Given the description of an element on the screen output the (x, y) to click on. 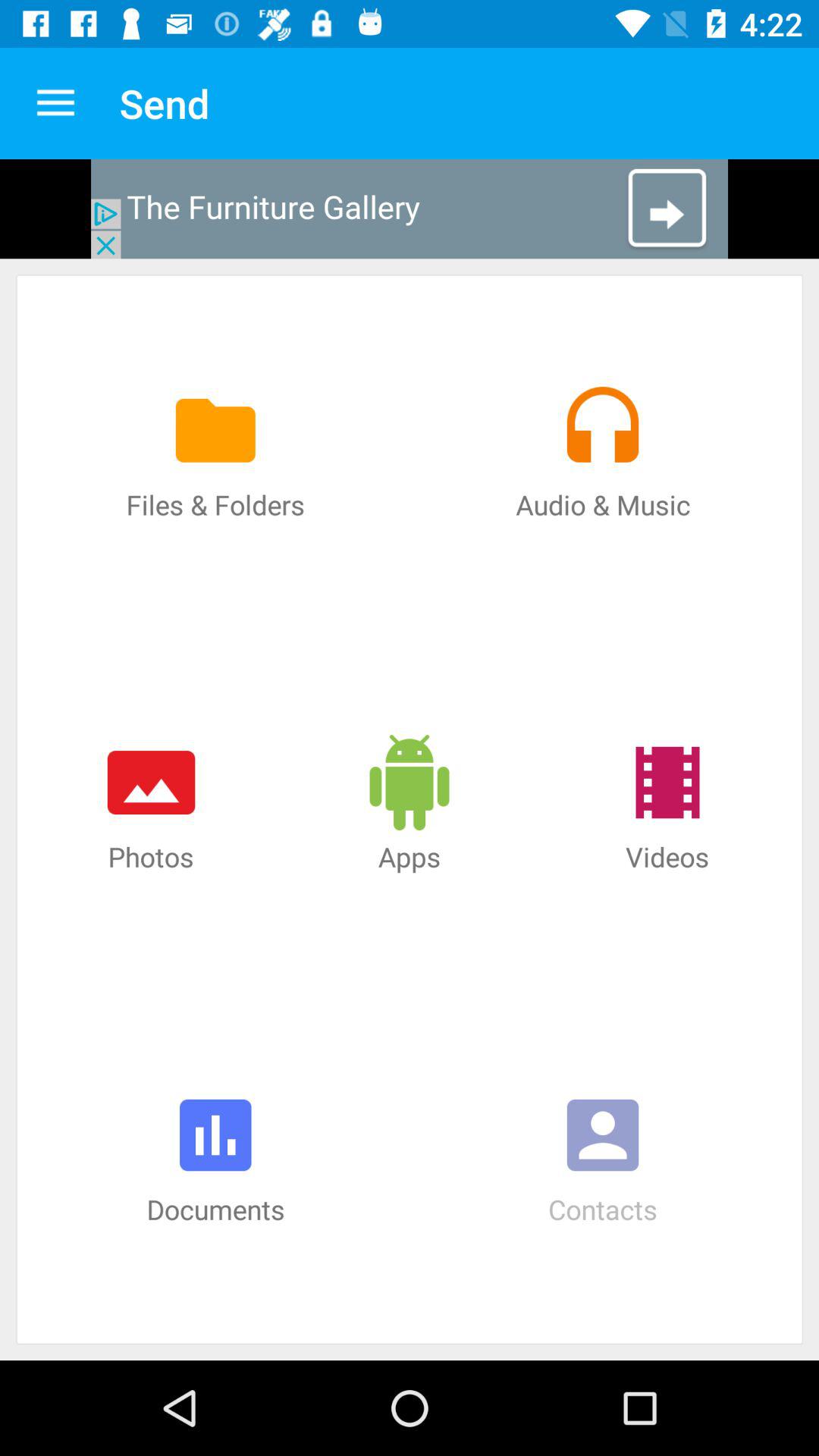
view advertisement (409, 208)
